Given the description of an element on the screen output the (x, y) to click on. 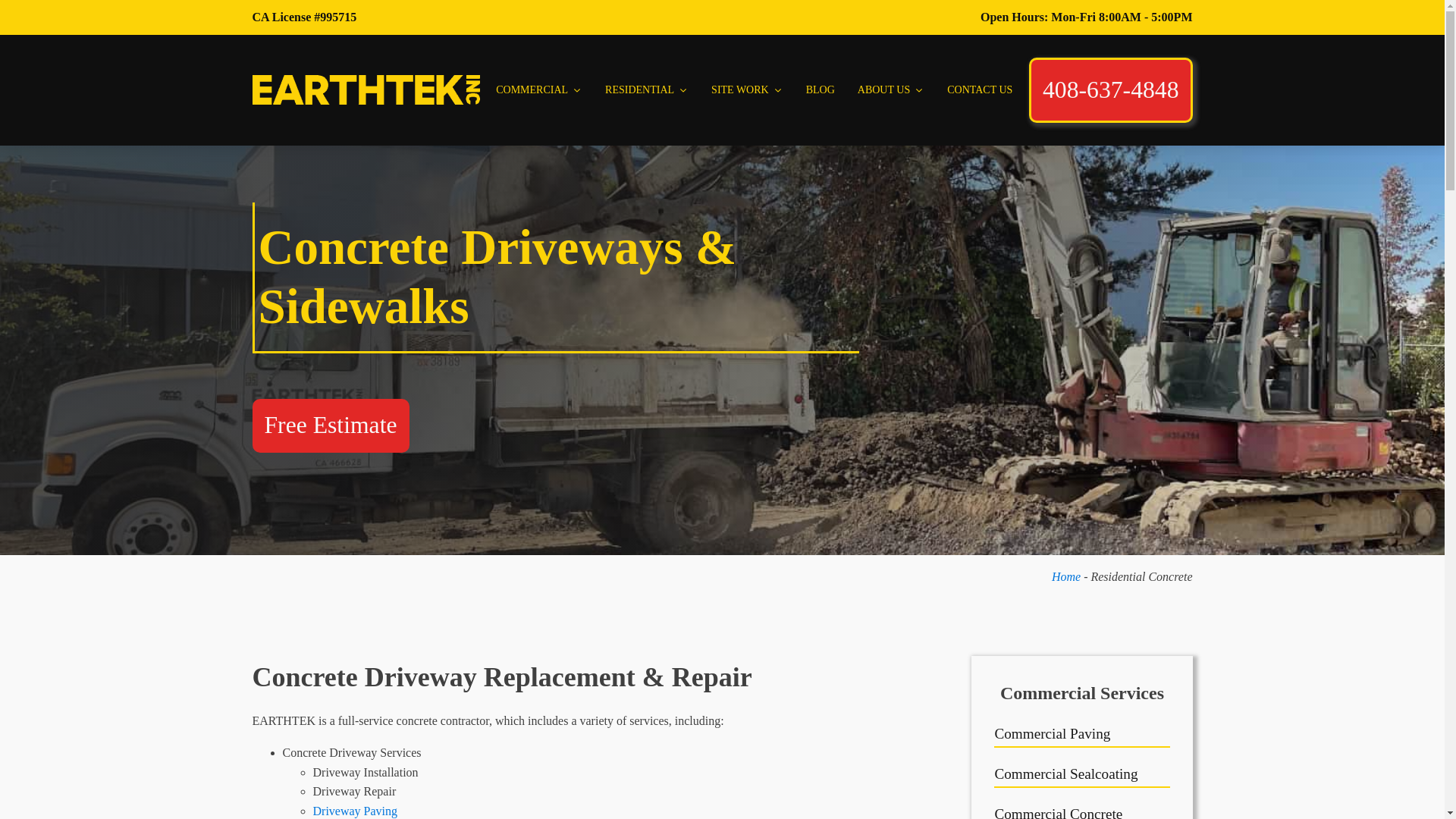
CONTACT US (979, 89)
ABOUT US (890, 89)
Free Estimate (330, 425)
408-637-4848 (1110, 90)
BLOG (819, 89)
RESIDENTIAL (647, 89)
COMMERCIAL (539, 89)
SITE WORK (747, 89)
Home (1065, 576)
Driveway Paving (355, 810)
